Given the description of an element on the screen output the (x, y) to click on. 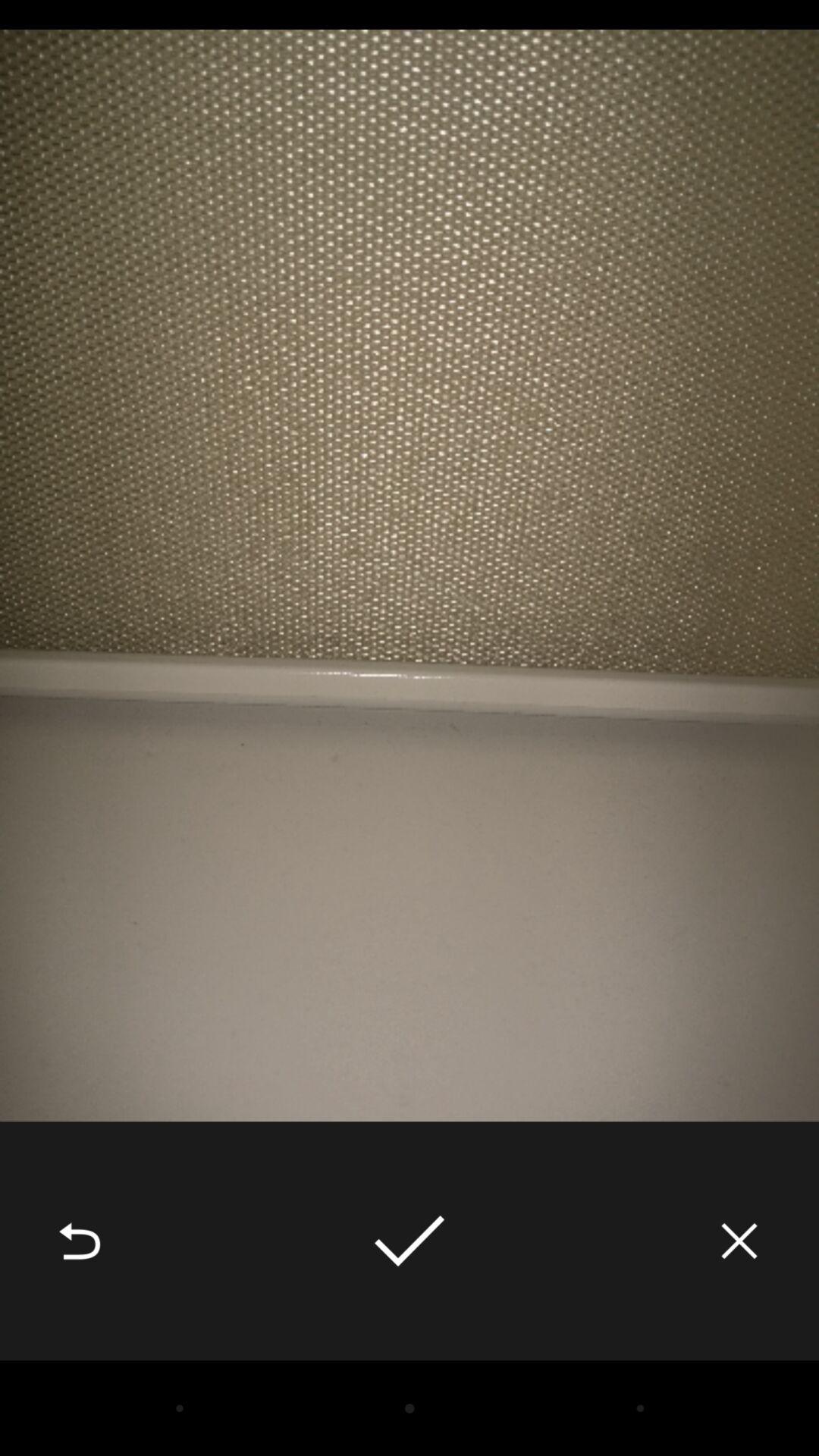
launch item at the bottom right corner (739, 1240)
